Given the description of an element on the screen output the (x, y) to click on. 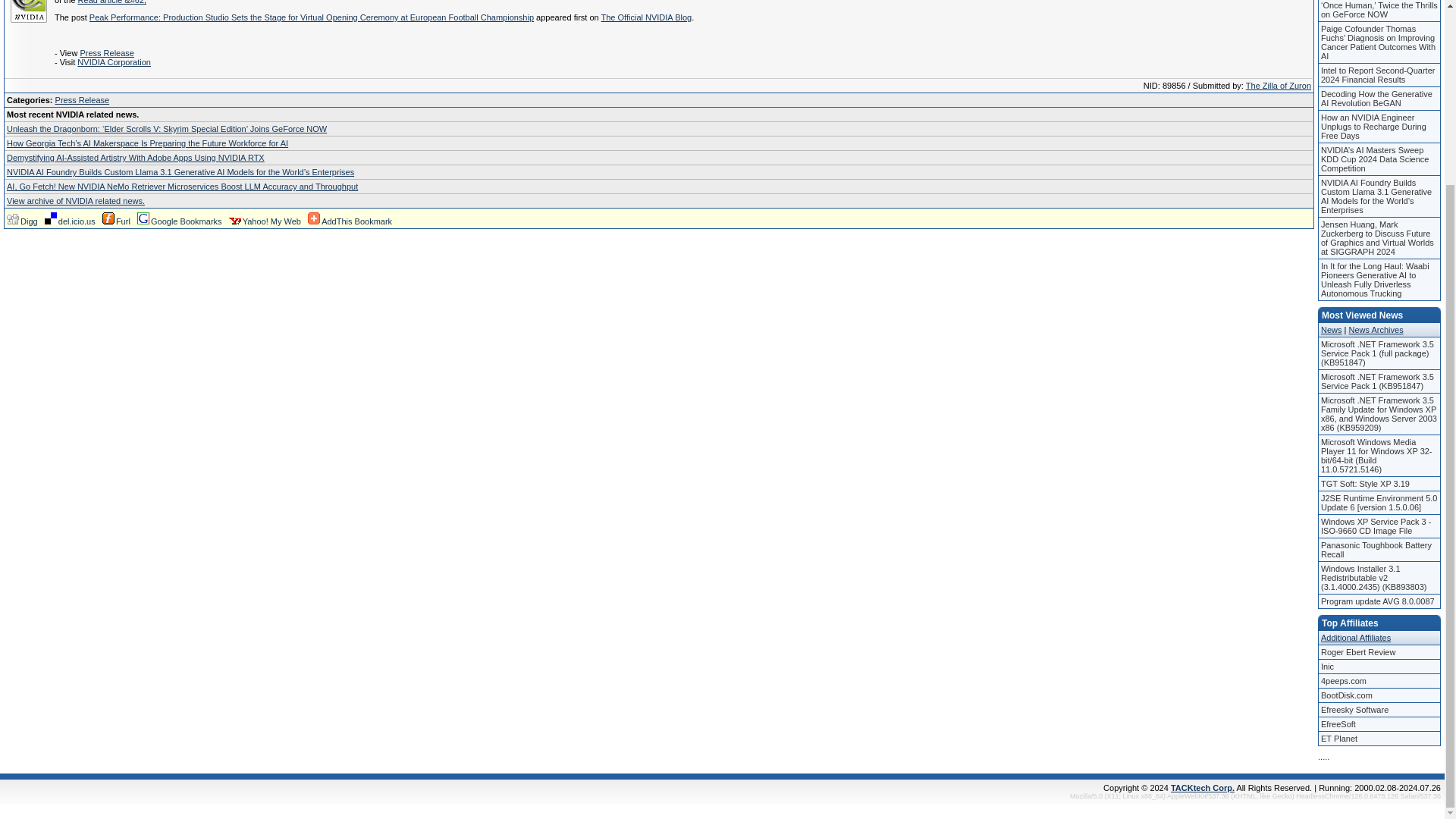
Press Release (106, 52)
View archive of NVIDIA related news. (75, 200)
Google Bookmarks (179, 221)
Add to Google Bookmarks (179, 221)
View posts by The Zilla of Zuron. (1278, 85)
The Zilla of Zuron (1278, 85)
Digg This (22, 221)
Furl (116, 221)
Add to Yahoo! My Web (264, 221)
Digg (22, 221)
del.icio.us (70, 221)
NVIDIA Corporation (114, 61)
The Official NVIDIA Blog (647, 17)
